Given the description of an element on the screen output the (x, y) to click on. 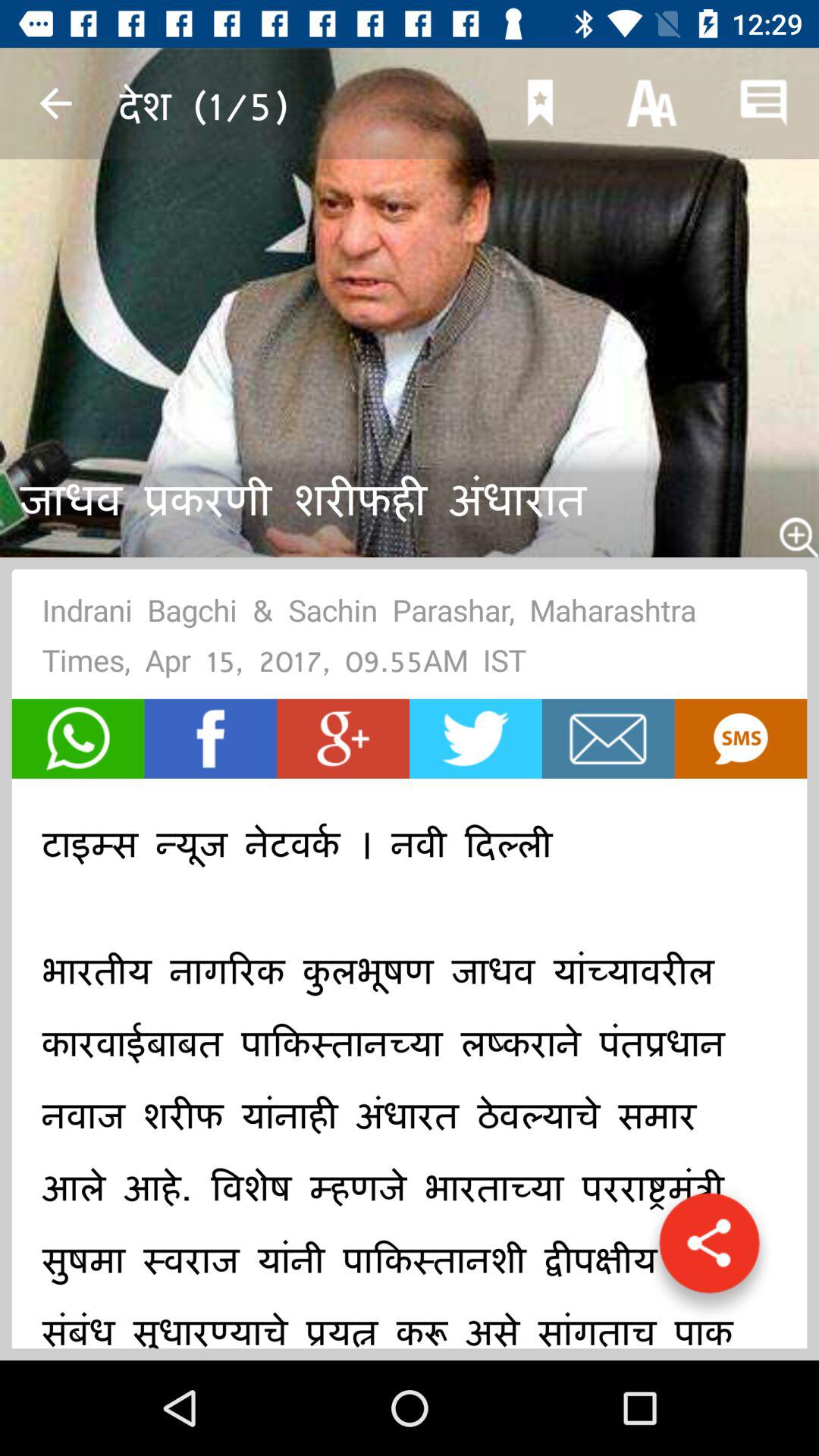
share in facebook (210, 738)
